Given the description of an element on the screen output the (x, y) to click on. 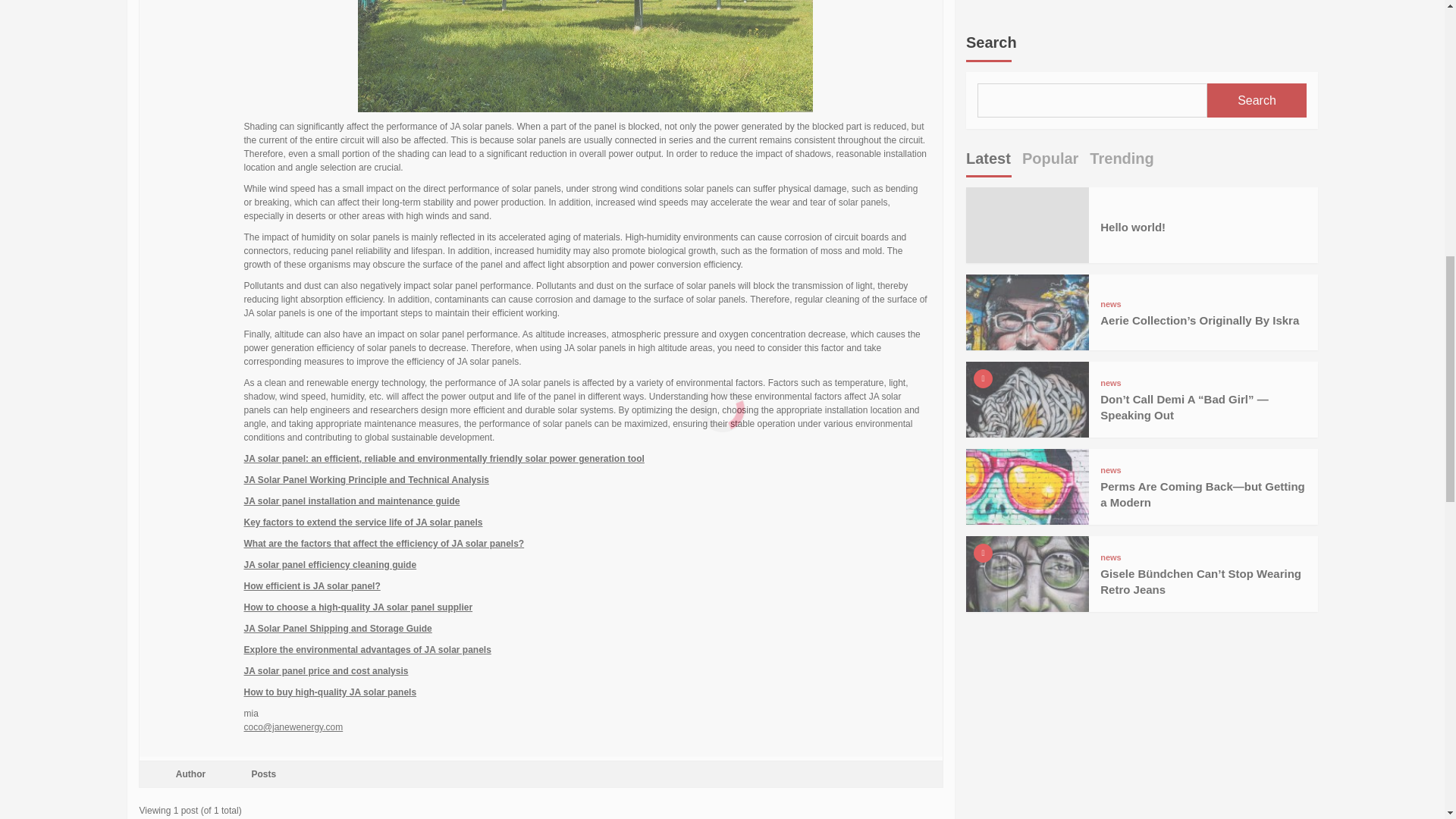
JA Solar Panel Working Principle and Technical Analysis (366, 480)
JA solar panel efficiency cleaning guide (330, 564)
Key factors to extend the service life of JA solar panels (363, 521)
How to choose a high-quality JA solar panel supplier (358, 606)
 JA solar panels (585, 56)
Explore the environmental advantages of JA solar panels (368, 649)
JA solar panel price and cost analysis (326, 670)
JA Solar Panel Shipping and Storage Guide (338, 628)
